Given the description of an element on the screen output the (x, y) to click on. 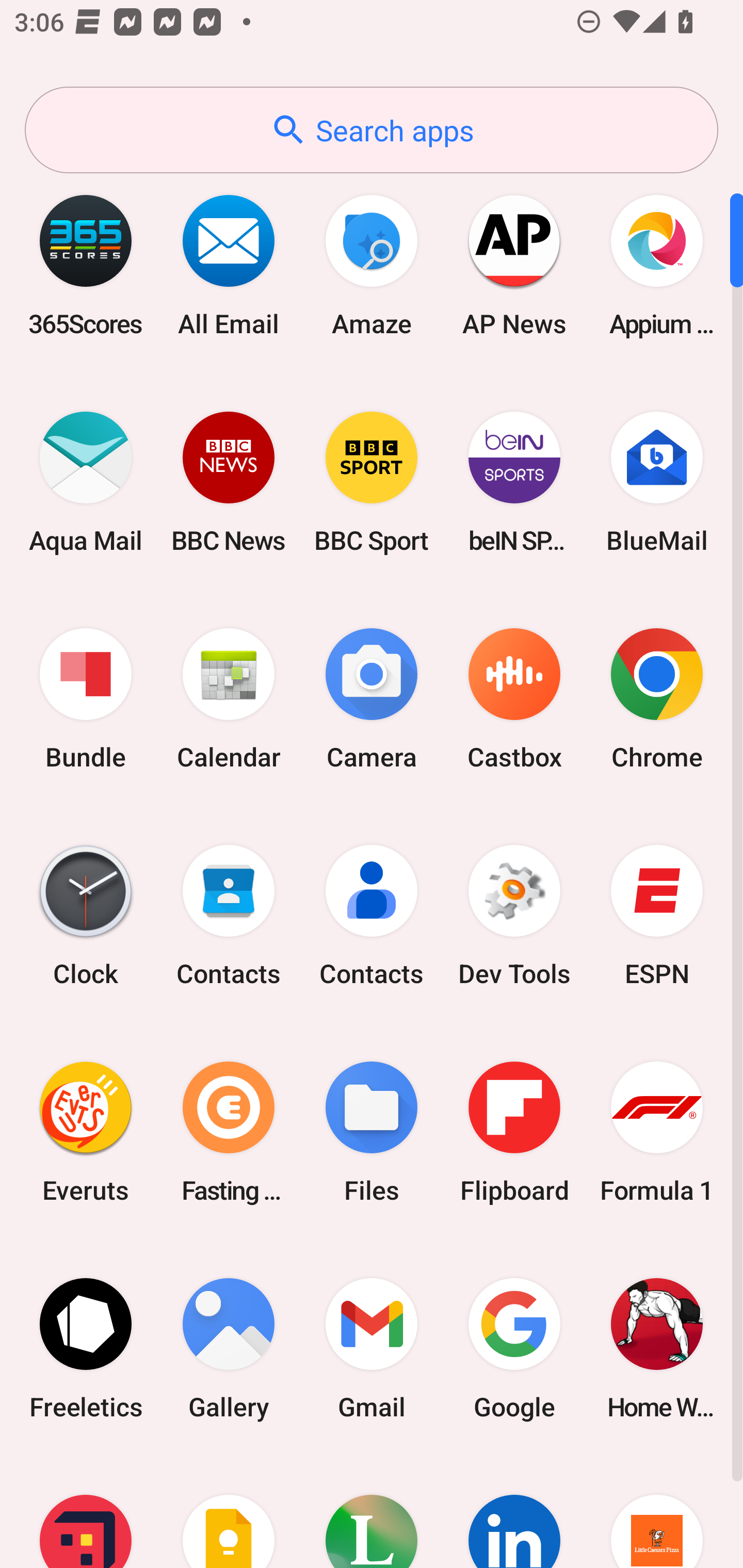
  Search apps (371, 130)
365Scores (85, 264)
All Email (228, 264)
Amaze (371, 264)
AP News (514, 264)
Appium Settings (656, 264)
Aqua Mail (85, 482)
BBC News (228, 482)
BBC Sport (371, 482)
beIN SPORTS (514, 482)
BlueMail (656, 482)
Bundle (85, 699)
Calendar (228, 699)
Camera (371, 699)
Castbox (514, 699)
Chrome (656, 699)
Clock (85, 915)
Contacts (228, 915)
Contacts (371, 915)
Dev Tools (514, 915)
ESPN (656, 915)
Everuts (85, 1131)
Fasting Coach (228, 1131)
Files (371, 1131)
Flipboard (514, 1131)
Formula 1 (656, 1131)
Freeletics (85, 1348)
Gallery (228, 1348)
Gmail (371, 1348)
Google (514, 1348)
Home Workout (656, 1348)
Hotels.com (85, 1512)
Keep Notes (228, 1512)
Lifesum (371, 1512)
LinkedIn (514, 1512)
Little Caesars Pizza (656, 1512)
